Given the description of an element on the screen output the (x, y) to click on. 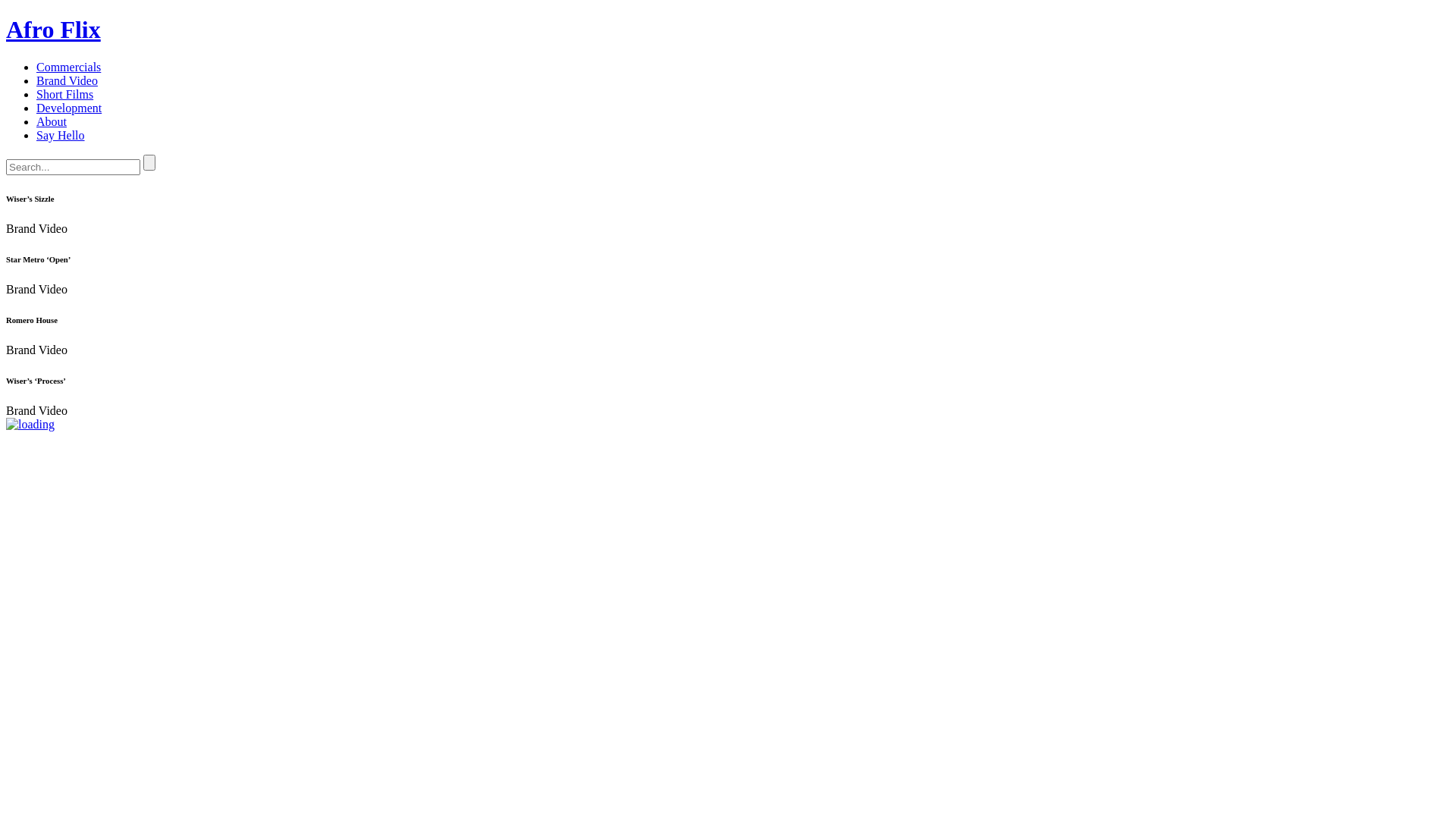
Development Element type: text (68, 107)
Commercials Element type: text (68, 66)
About Element type: text (51, 121)
Afro Flix Element type: text (53, 29)
Say Hello Element type: text (60, 134)
Brand Video Element type: text (66, 80)
Short Films Element type: text (64, 93)
